Given the description of an element on the screen output the (x, y) to click on. 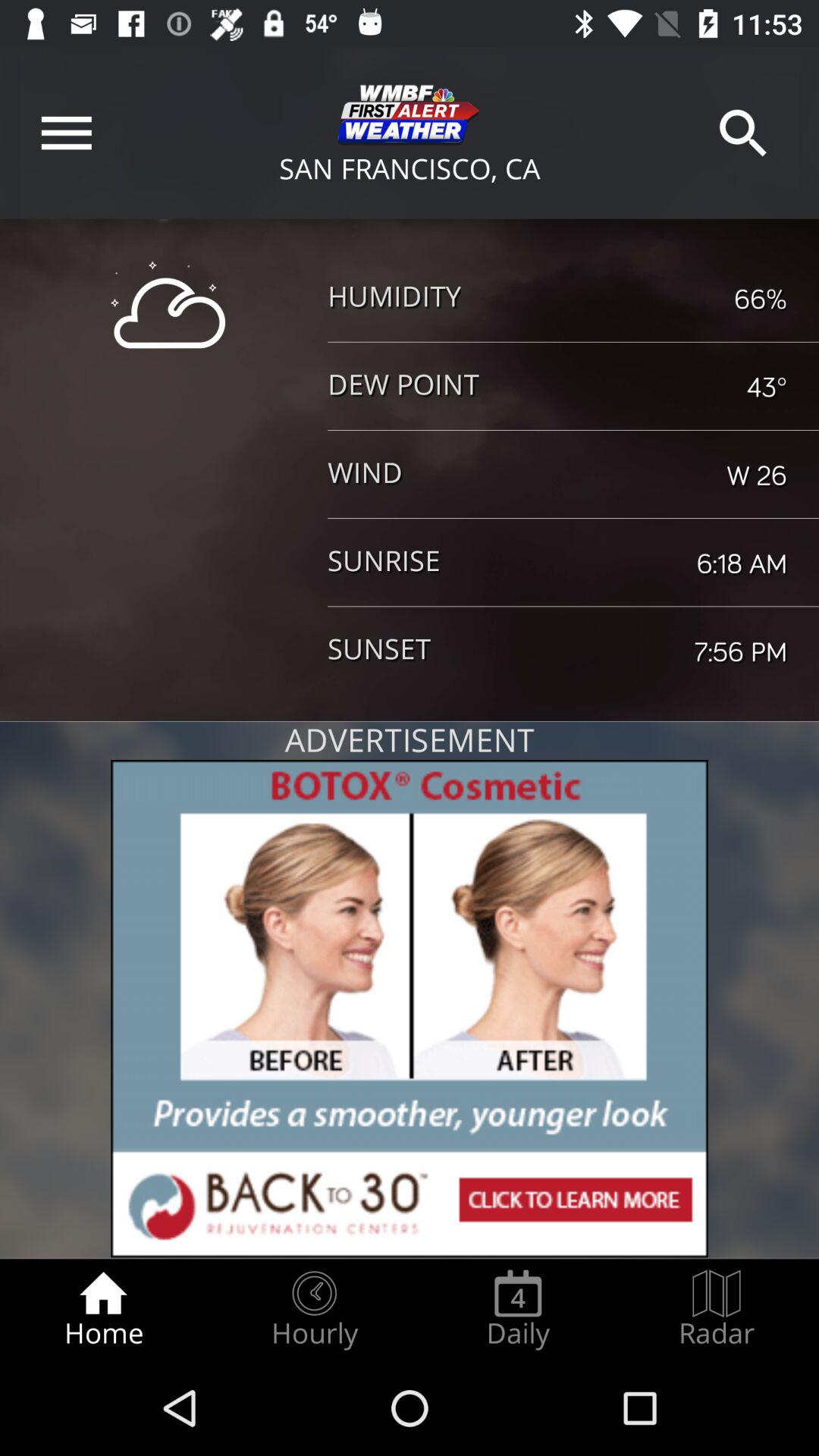
swipe to the daily item (518, 1309)
